Given the description of an element on the screen output the (x, y) to click on. 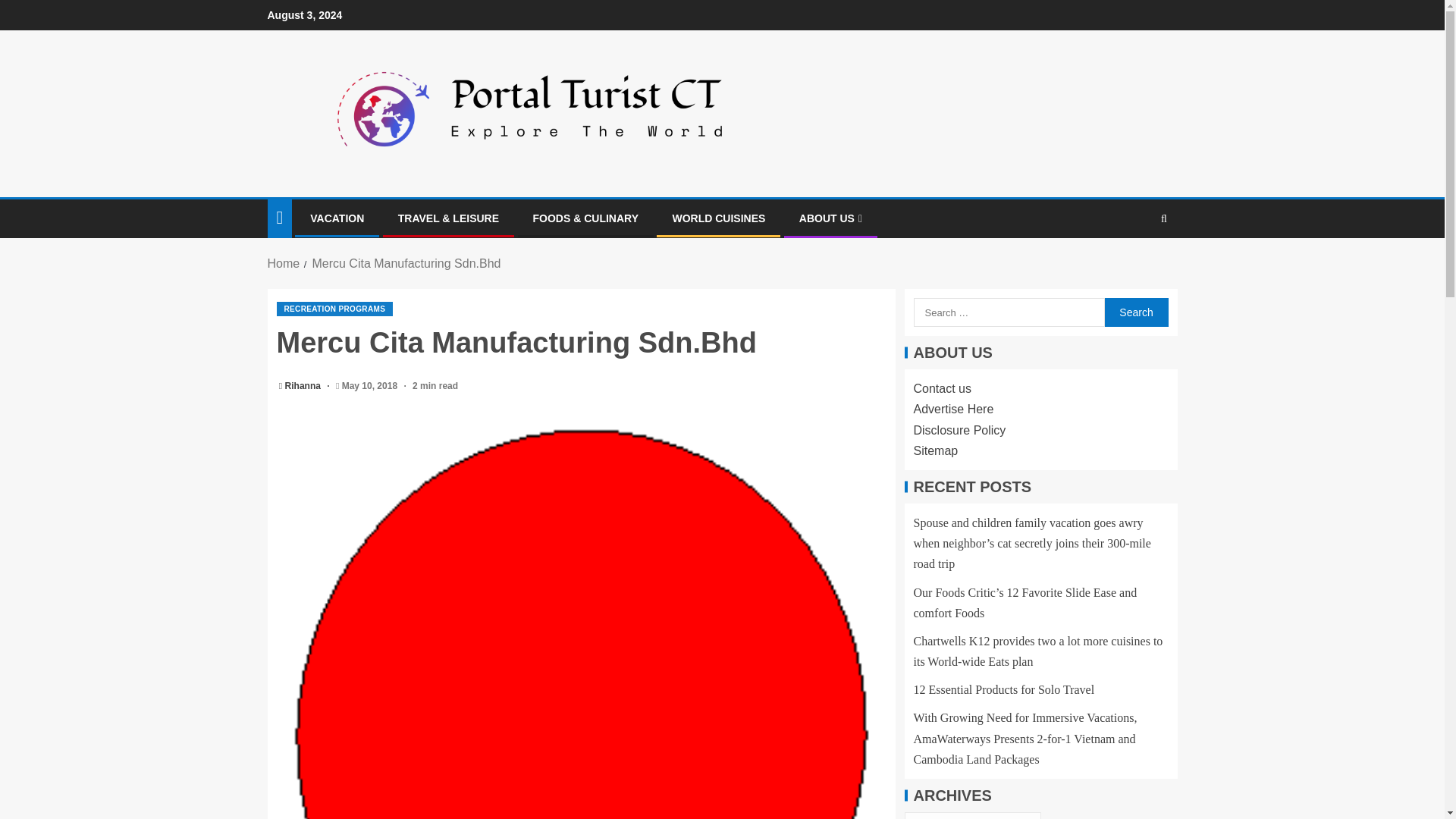
WORLD CUISINES (718, 218)
VACATION (337, 218)
Search (1135, 312)
Contact us (941, 388)
ABOUT US (830, 218)
RECREATION PROGRAMS (334, 309)
Rihanna (304, 385)
Search (1133, 265)
Search (1135, 312)
Mercu Cita Manufacturing Sdn.Bhd (405, 263)
